Given the description of an element on the screen output the (x, y) to click on. 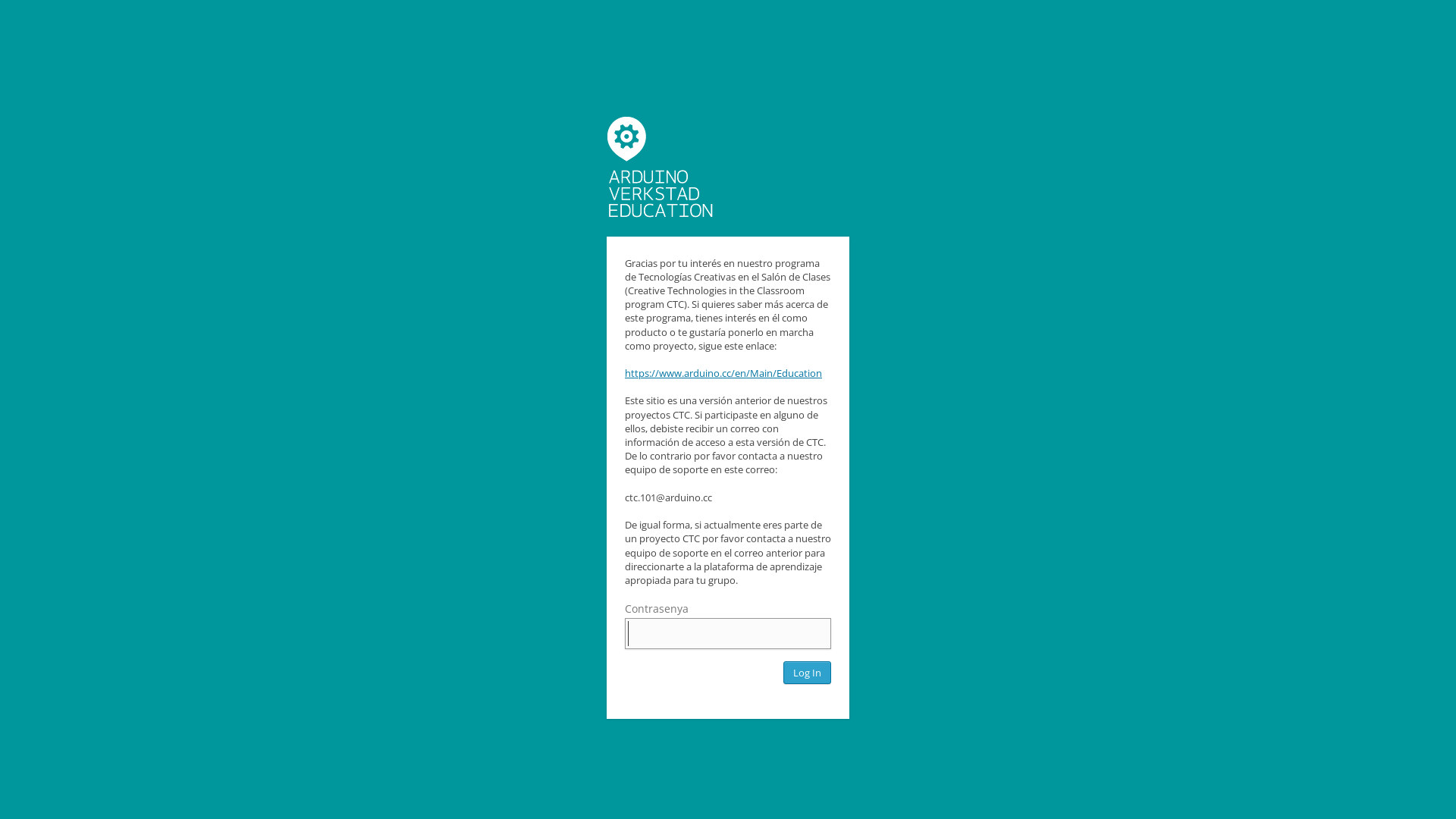
https://www.arduino.cc/en/Main/Education Element type: text (723, 372)
Log In Element type: text (807, 672)
Creative Technologies Element type: text (659, 166)
